Given the description of an element on the screen output the (x, y) to click on. 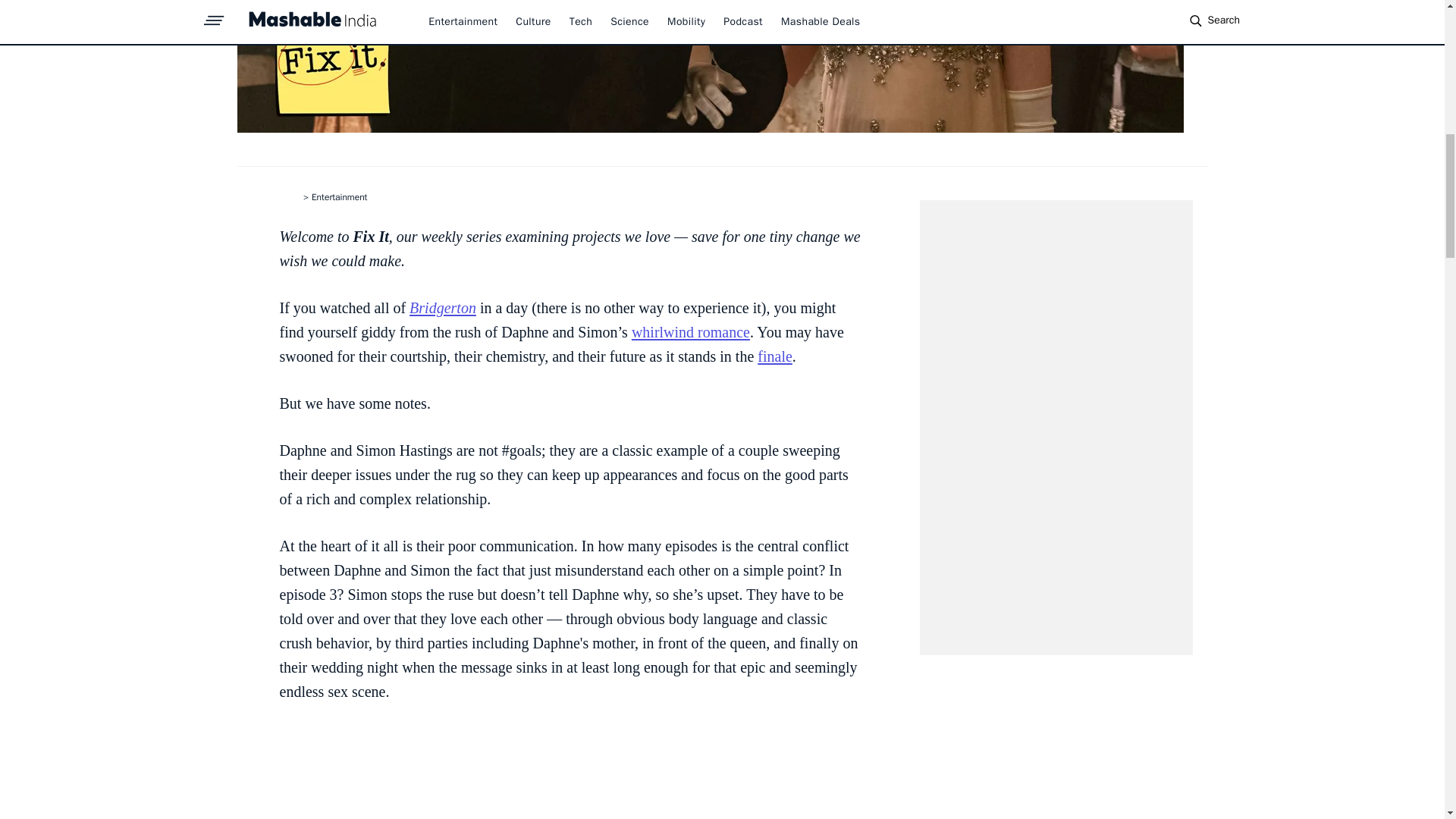
whirlwind romance (690, 331)
Bridgerton (442, 307)
finale (774, 356)
